Given the description of an element on the screen output the (x, y) to click on. 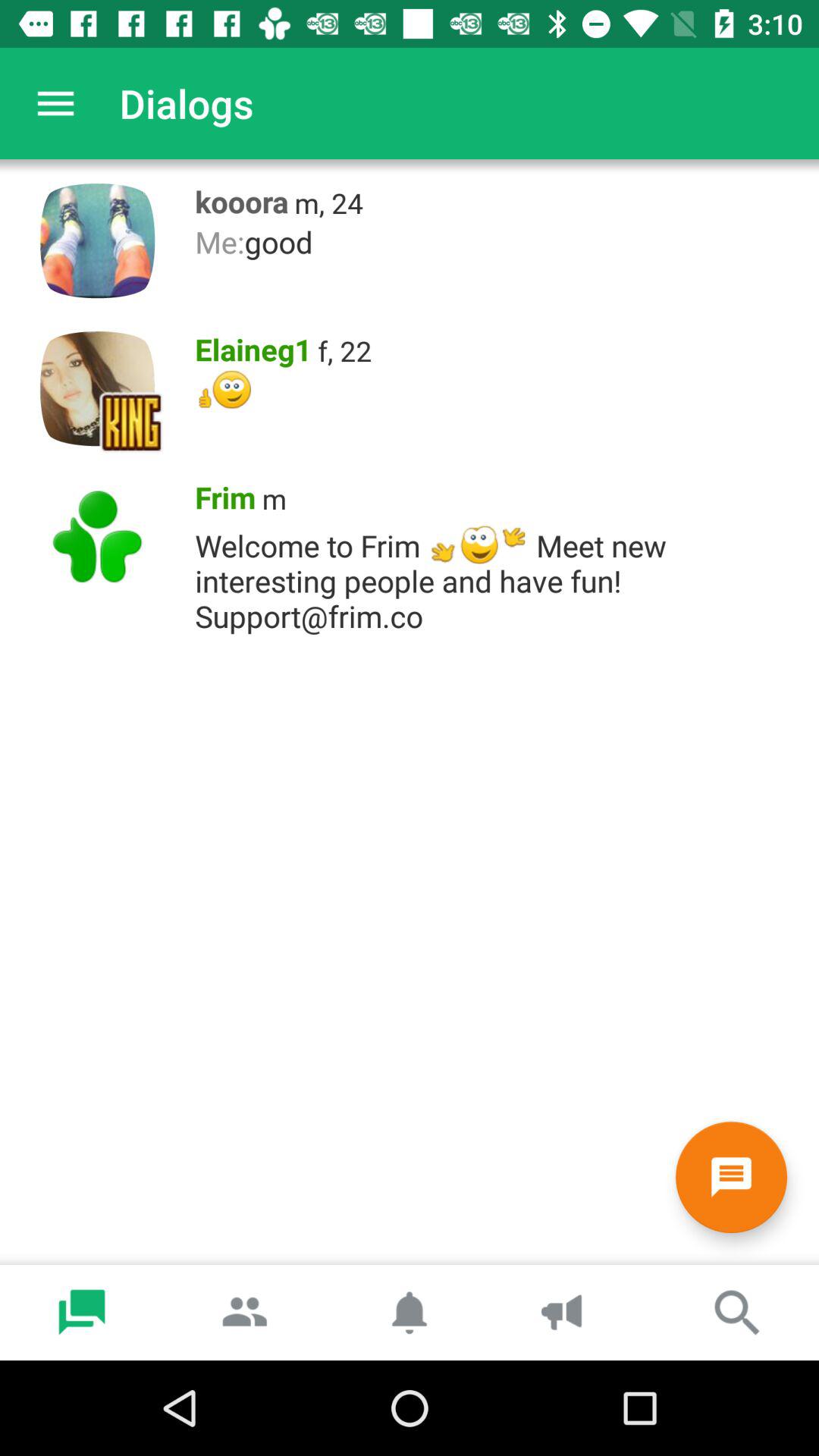
read message (731, 1177)
